Given the description of an element on the screen output the (x, y) to click on. 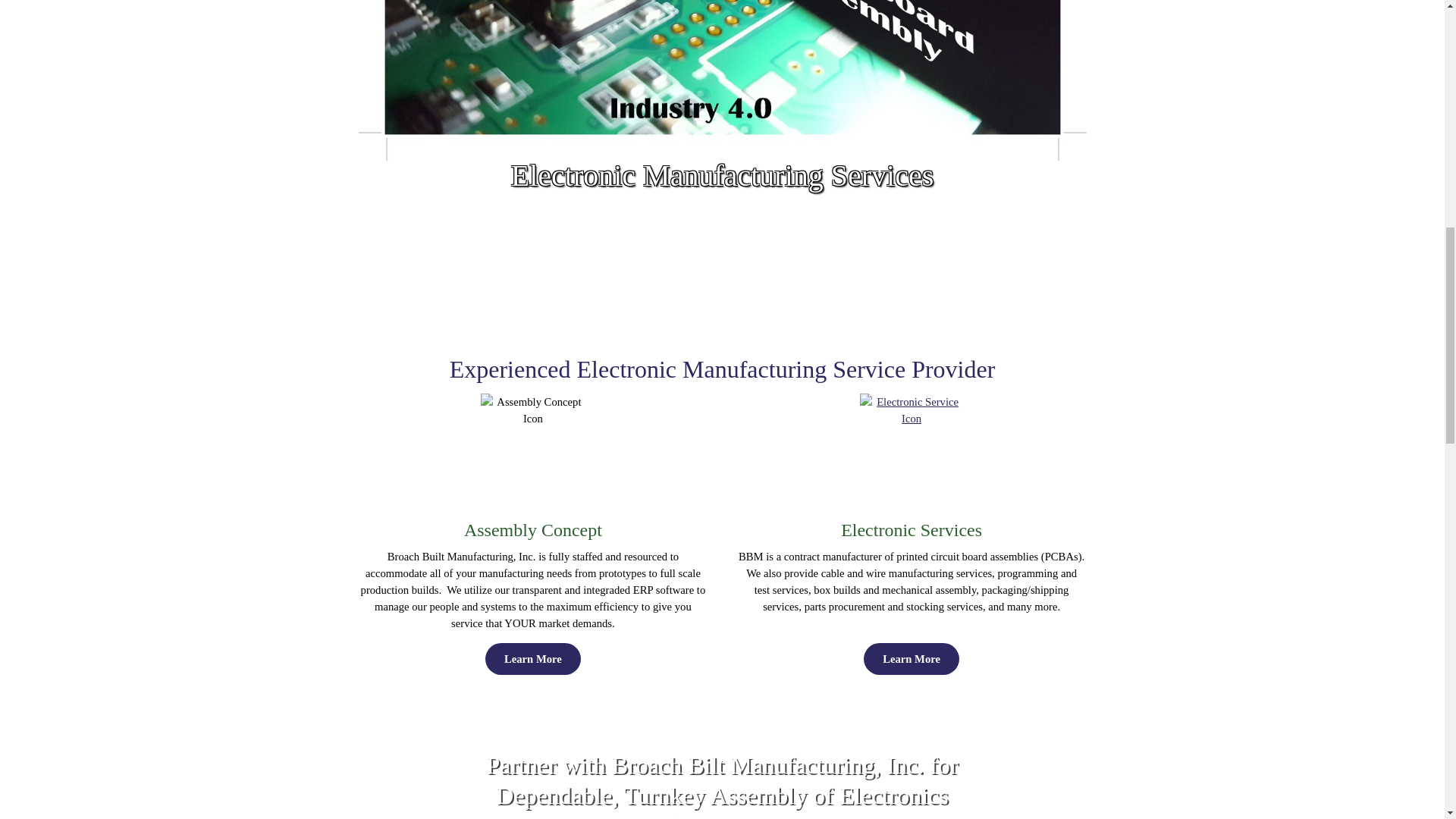
Learn More (911, 658)
Electronic Service Icon (911, 409)
Learn More (532, 658)
Assembly Concept Icon (532, 409)
